Given the description of an element on the screen output the (x, y) to click on. 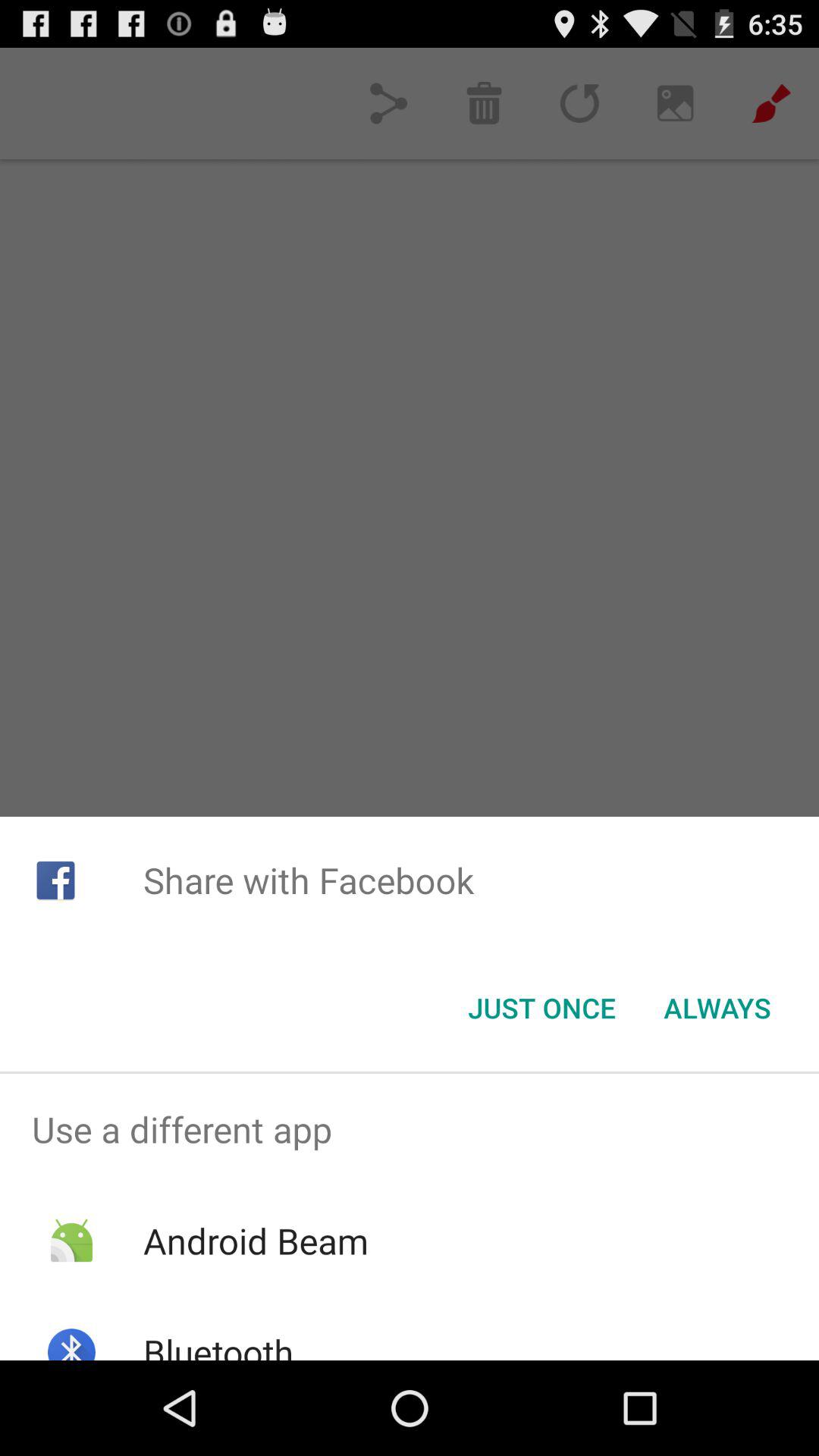
click the icon next to the just once icon (717, 1007)
